Given the description of an element on the screen output the (x, y) to click on. 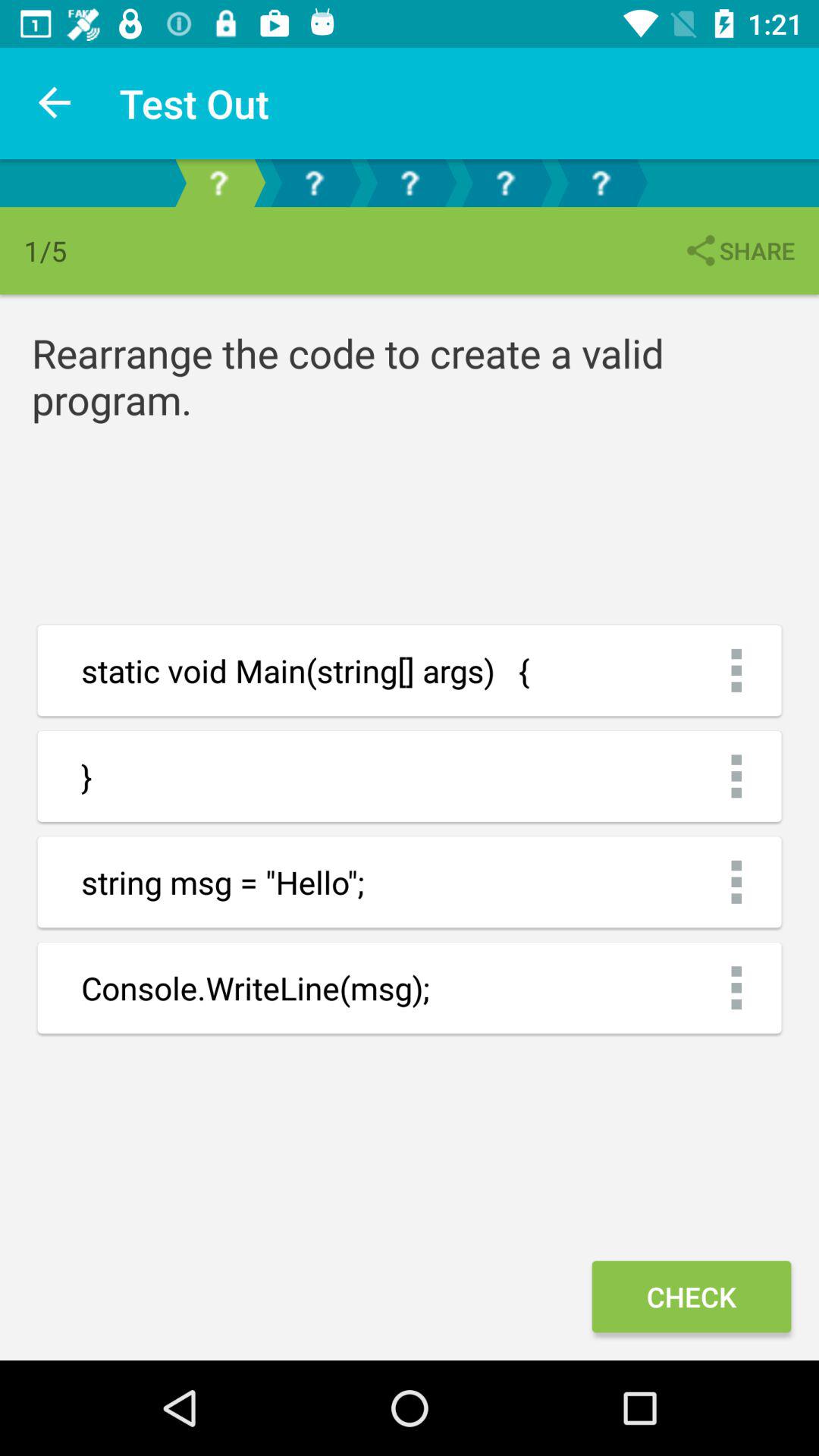
turn off check icon (691, 1296)
